Given the description of an element on the screen output the (x, y) to click on. 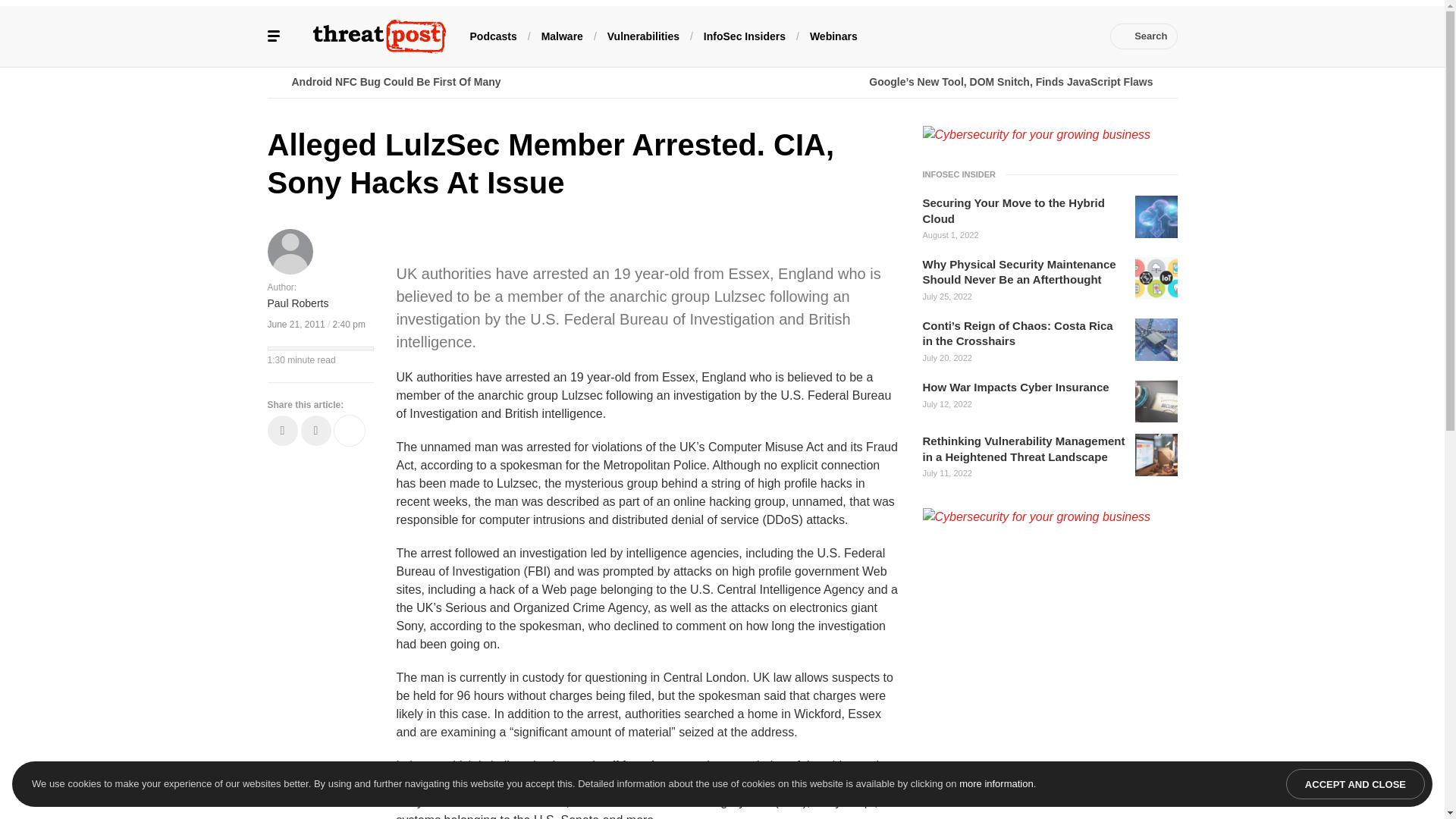
How War Impacts Cyber Insurance (1014, 387)
InfoSec Insiders (744, 35)
LinkedIn (989, 36)
Search (1143, 36)
Threatpost (379, 36)
Podcasts (493, 35)
Vulnerabilities (643, 35)
Webinars (833, 35)
Malware (562, 35)
Facebook (944, 36)
Android NFC Bug Could Be First Of Many (494, 82)
Securing Your Move to the Hybrid Cloud (1023, 210)
RSS (1080, 36)
Paul Roberts (297, 303)
